Given the description of an element on the screen output the (x, y) to click on. 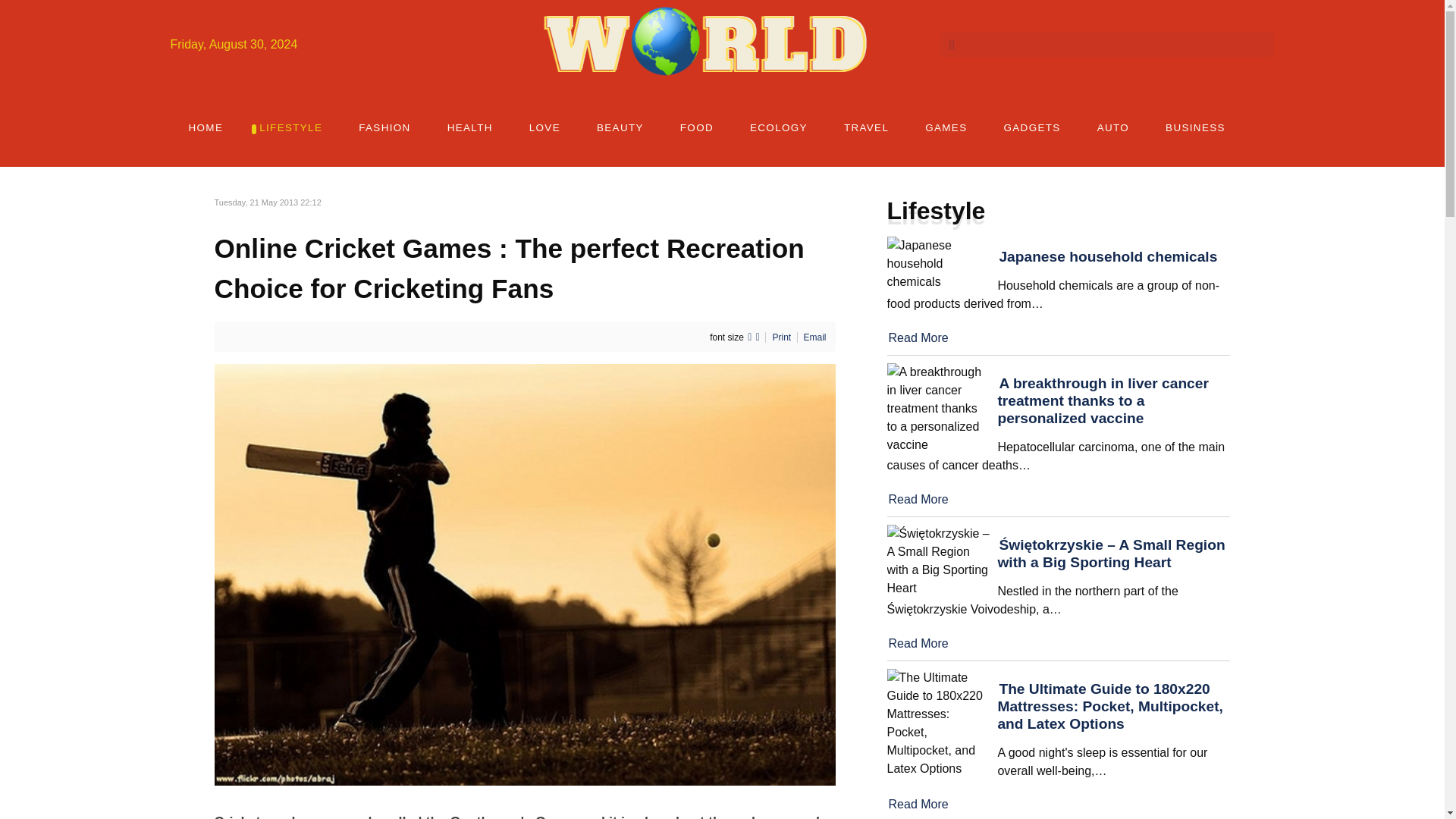
LIFESTYLE (290, 127)
GADGETS (1031, 127)
FASHION (384, 127)
Read More (918, 337)
HEALTH (470, 127)
Read More (918, 643)
BEAUTY (620, 127)
AUTO (1112, 127)
HOME (205, 127)
